Given the description of an element on the screen output the (x, y) to click on. 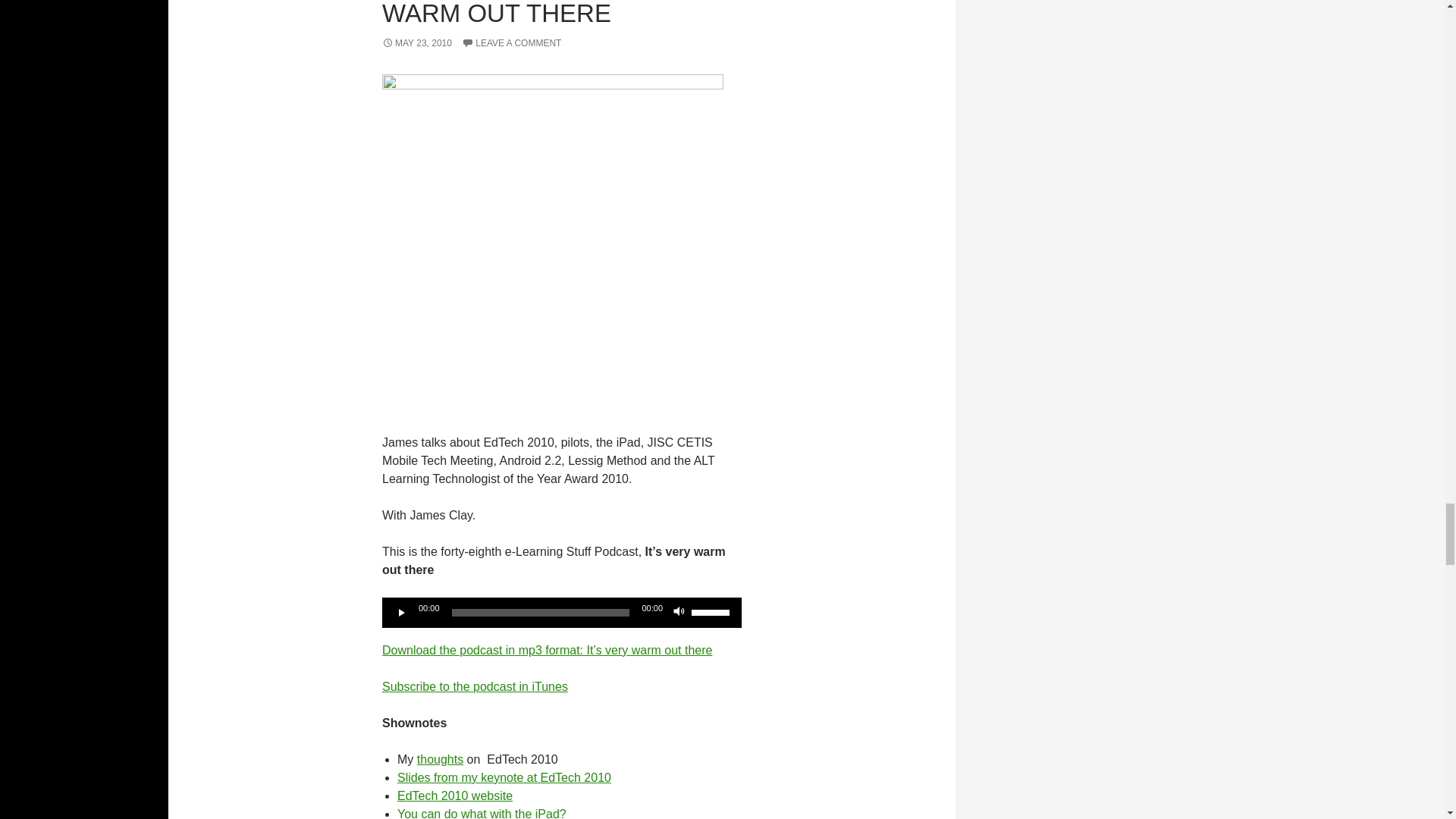
DSC01330 (552, 244)
Mute (679, 612)
Play (401, 612)
